Given the description of an element on the screen output the (x, y) to click on. 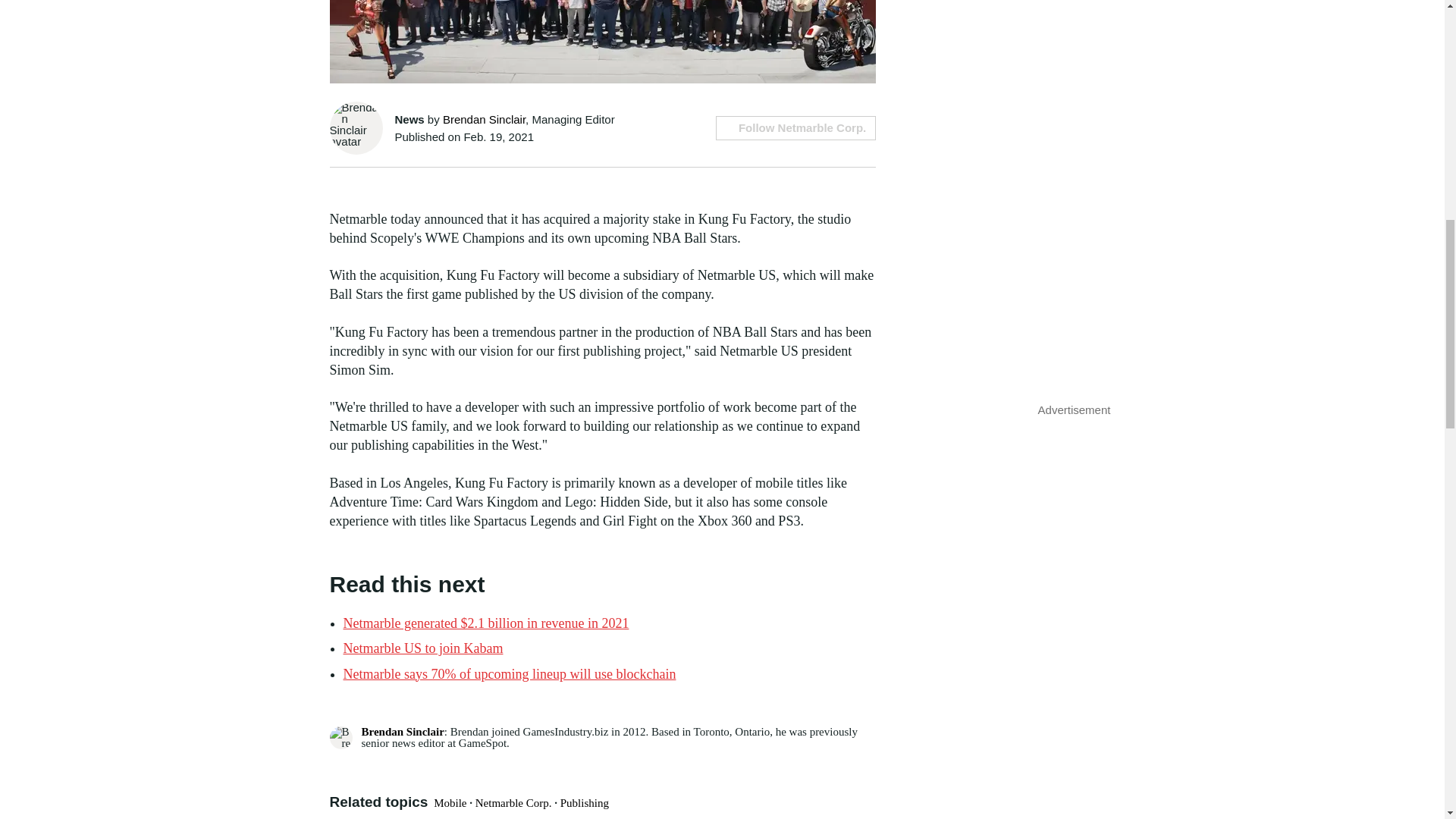
Brendan Sinclair (483, 119)
Publishing (584, 802)
Brendan Sinclair (402, 731)
Mobile (449, 802)
Netmarble Corp. (513, 802)
Follow Netmarble Corp. (796, 128)
Netmarble US to join Kabam (422, 648)
Follow Netmarble Corp. (796, 128)
